Given the description of an element on the screen output the (x, y) to click on. 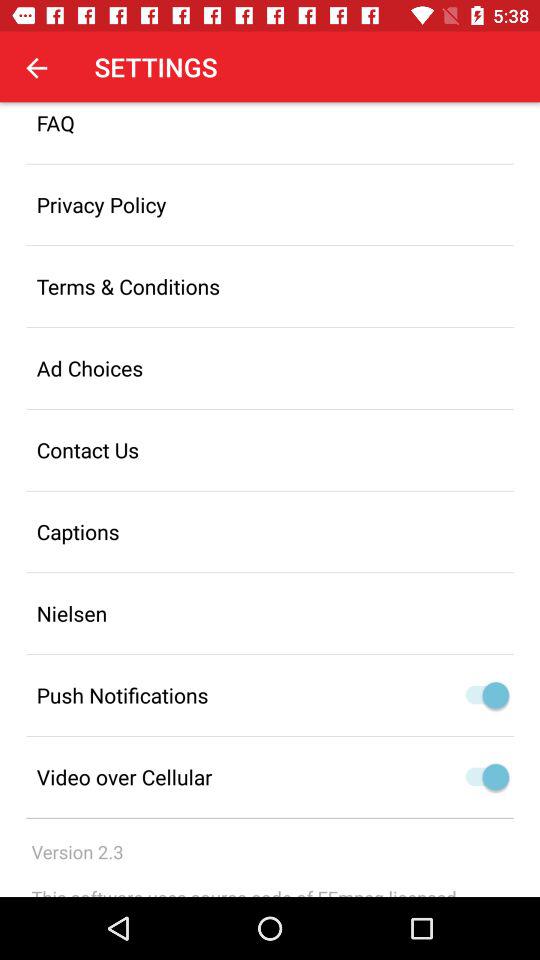
open icon below the ad choices item (270, 449)
